Given the description of an element on the screen output the (x, y) to click on. 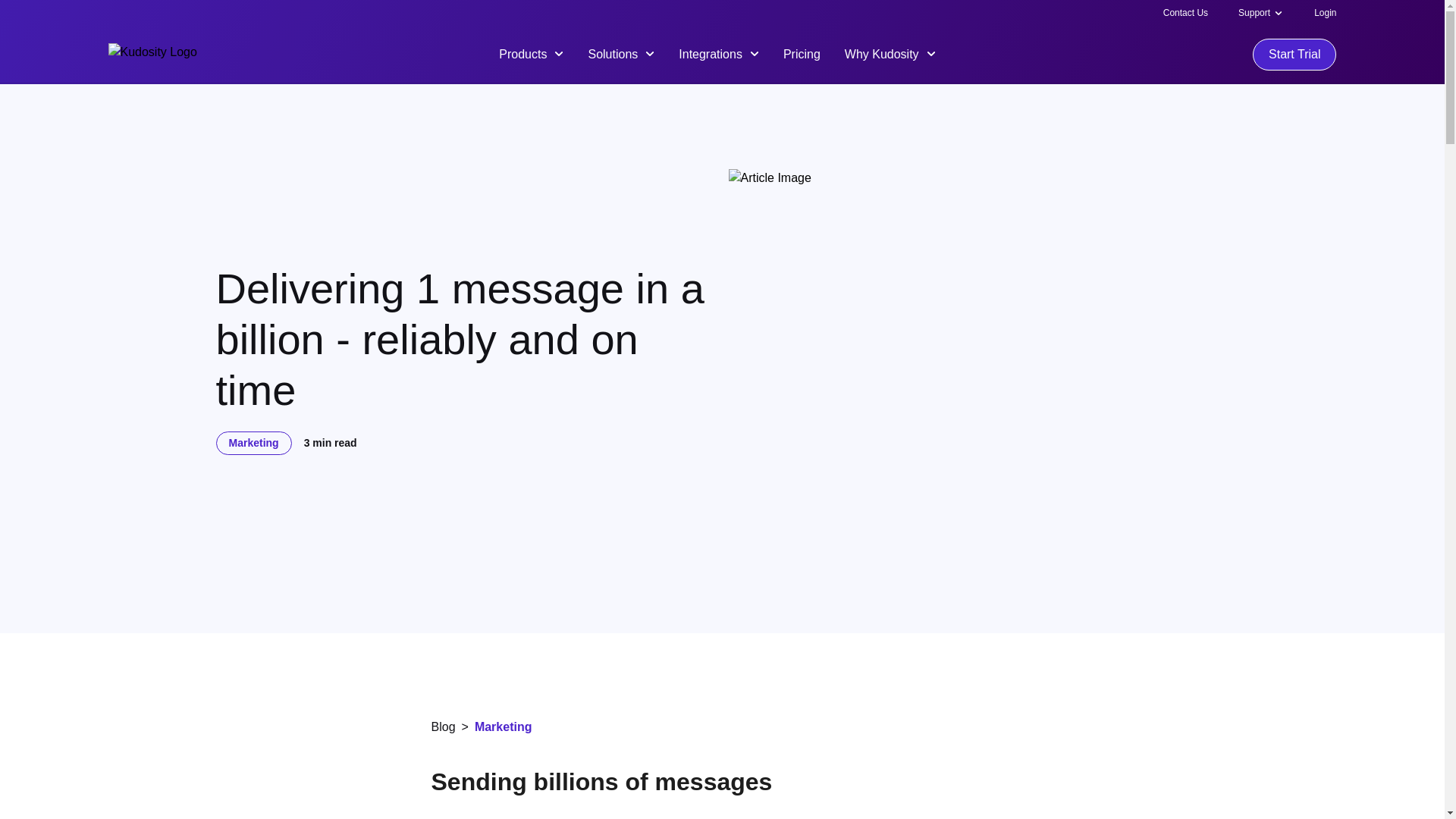
Contact Us (1185, 12)
Kudosity (151, 54)
Solutions (620, 54)
Login (1325, 12)
Support (1254, 12)
Products (531, 54)
